Given the description of an element on the screen output the (x, y) to click on. 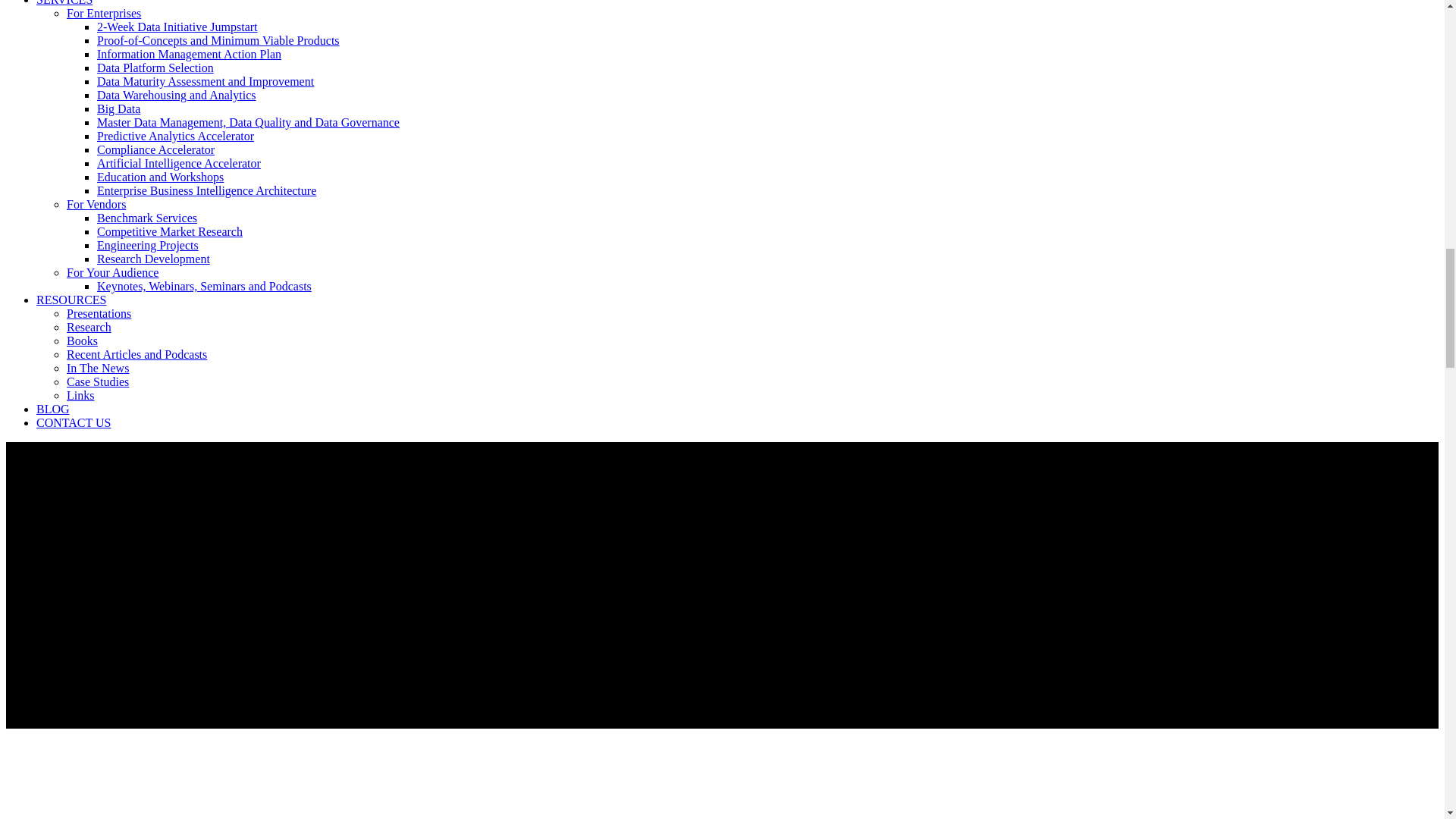
Master Data Management, Data Quality and Data Governance (247, 122)
Enterprise Business Intelligence Architecture (206, 191)
Compliance Accelerator (155, 150)
Engineering Projects (147, 245)
For Enterprises (103, 13)
Benchmark Services (146, 218)
Presentations (98, 314)
Data Maturity Assessment and Improvement (205, 81)
SERVICES (64, 3)
For Vendors (95, 204)
Education and Workshops (160, 177)
Information Management Action Plan (189, 54)
Data Warehousing and Analytics (176, 95)
Data Platform Selection (155, 68)
Recent Articles and Podcasts (136, 354)
